Given the description of an element on the screen output the (x, y) to click on. 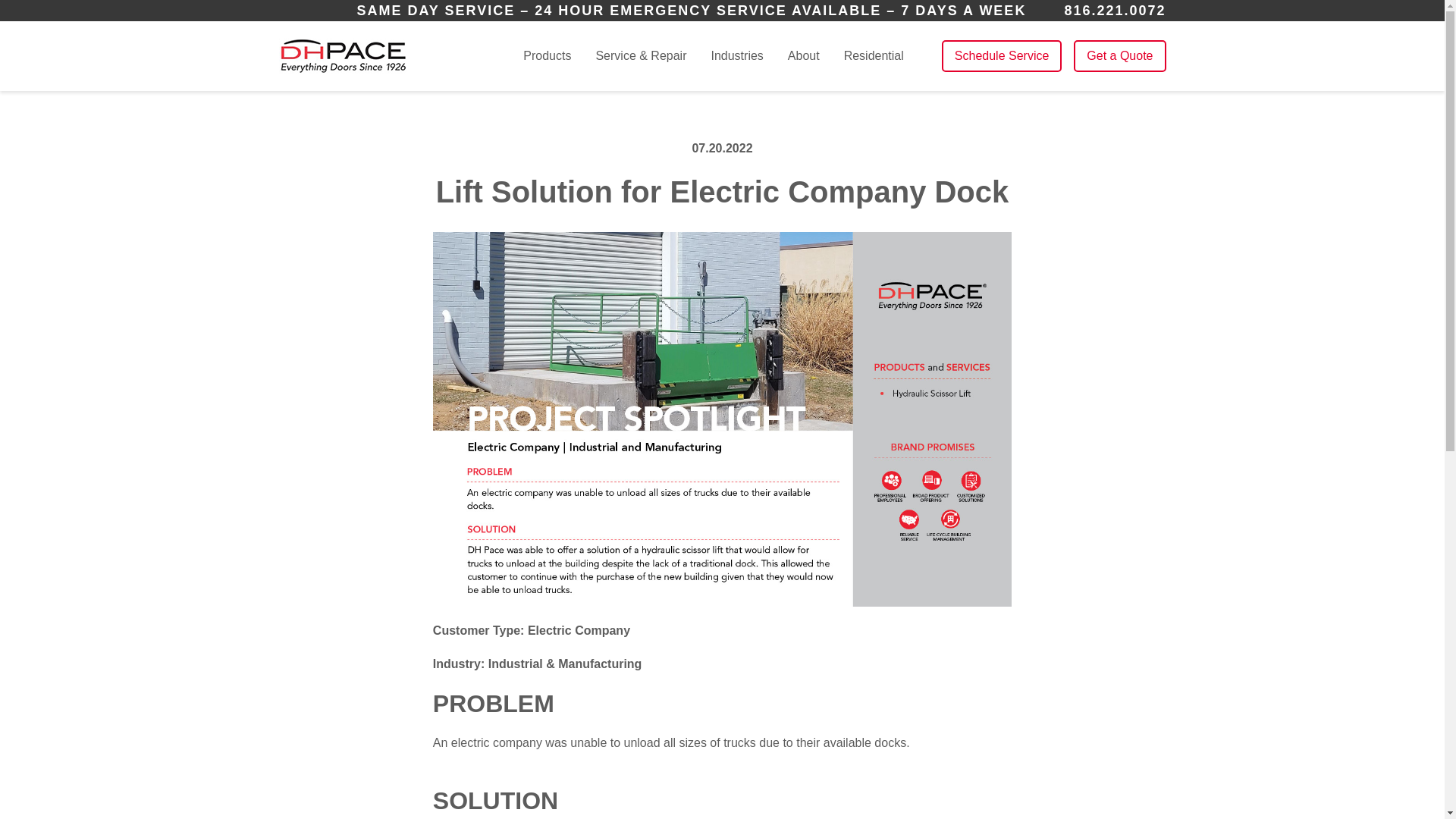
Industries (736, 55)
816.221.0072 (1115, 10)
Get a Quote (1120, 56)
Schedule Service (1002, 56)
About (803, 55)
Products (546, 55)
Residential (874, 55)
